Given the description of an element on the screen output the (x, y) to click on. 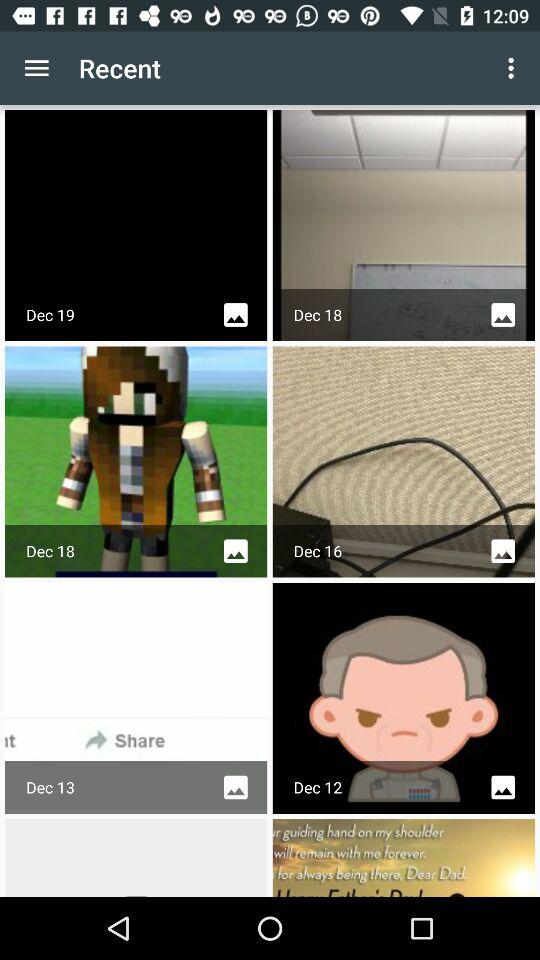
press app next to recent item (513, 67)
